Given the description of an element on the screen output the (x, y) to click on. 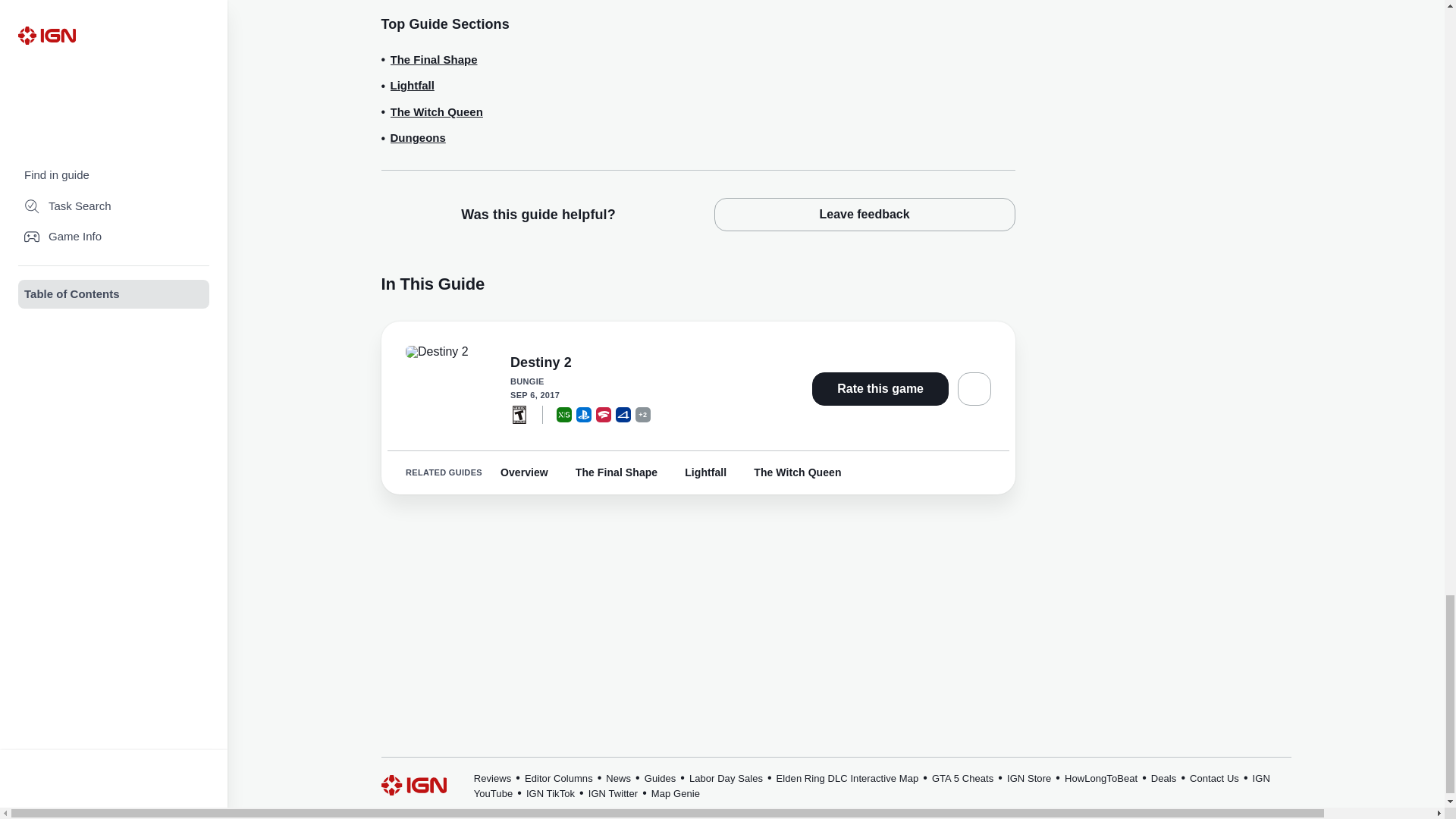
Stadia (603, 414)
ESRB: Teen (518, 414)
PlayStation 4 (622, 414)
PlayStation 5 (583, 414)
